Given the description of an element on the screen output the (x, y) to click on. 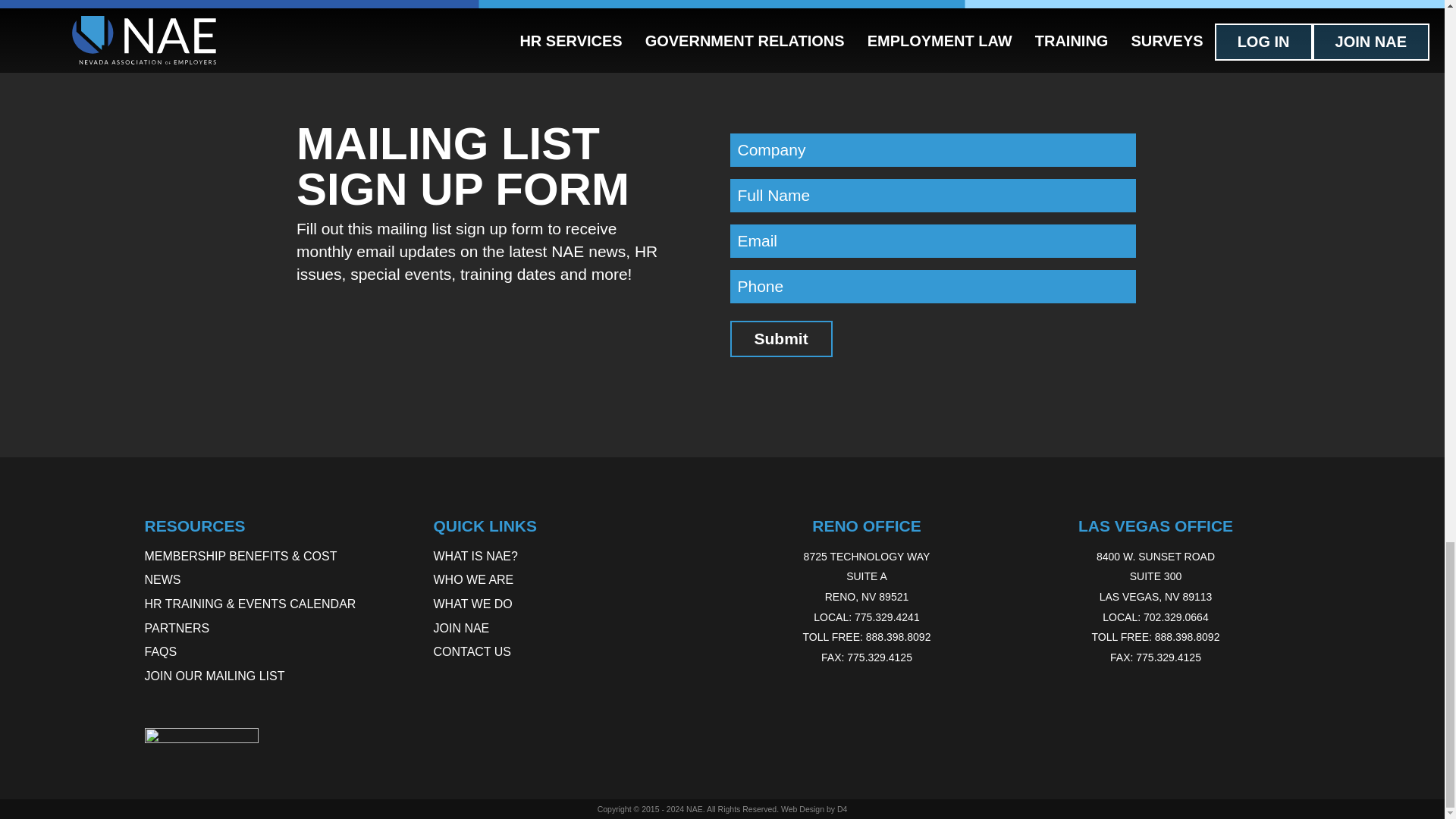
NAE (694, 809)
Submit (780, 339)
